Given the description of an element on the screen output the (x, y) to click on. 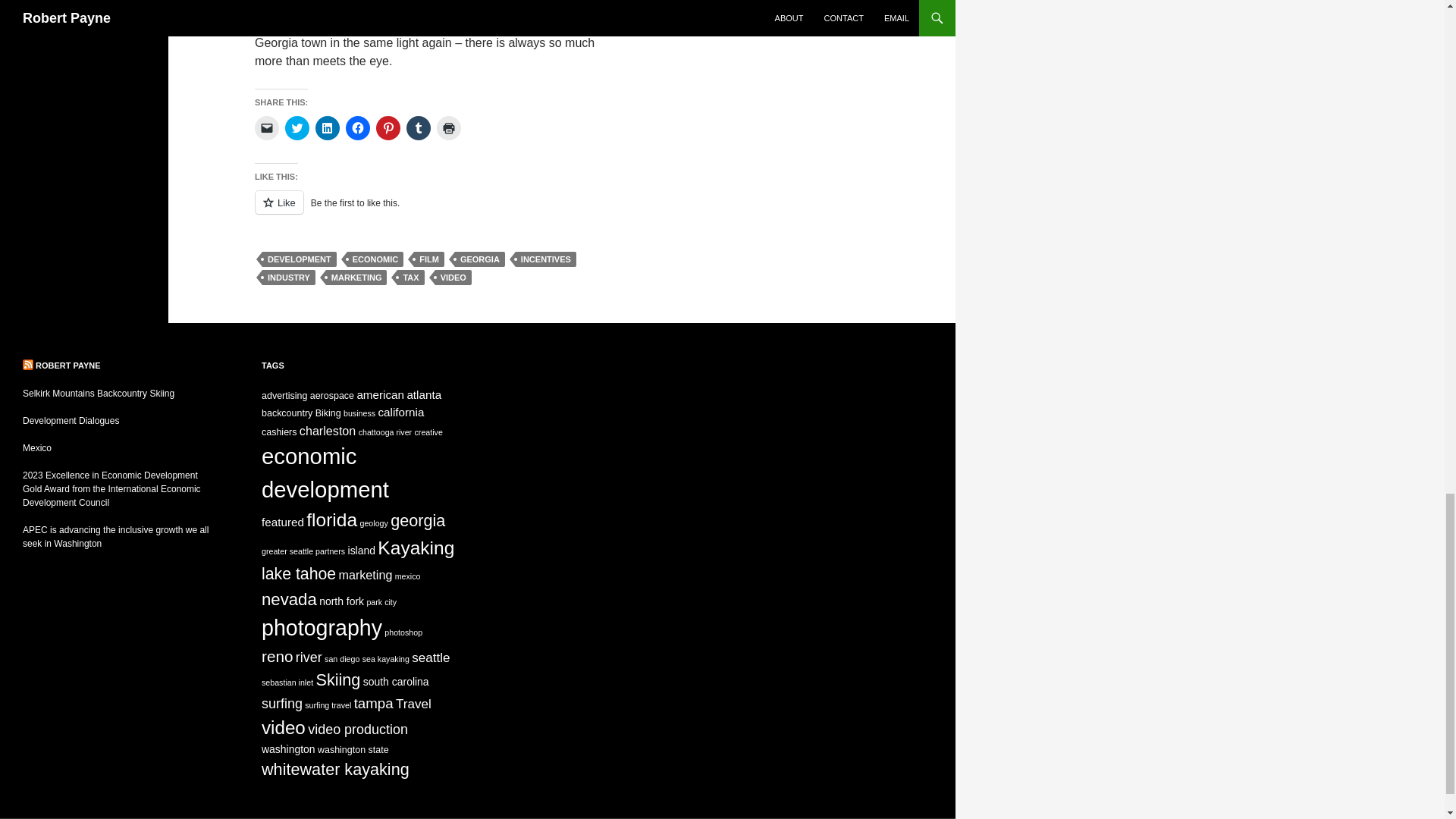
Click to print (448, 128)
ROBERT PAYNE (67, 365)
INCENTIVES (545, 258)
GEORGIA (479, 258)
Like or Reblog (434, 210)
Click to share on Tumblr (418, 128)
TAX (410, 277)
MARKETING (356, 277)
Click to email a link to a friend (266, 128)
VIDEO (453, 277)
FILM (428, 258)
INDUSTRY (288, 277)
Click to share on Facebook (357, 128)
ECONOMIC (375, 258)
Click to share on LinkedIn (327, 128)
